Given the description of an element on the screen output the (x, y) to click on. 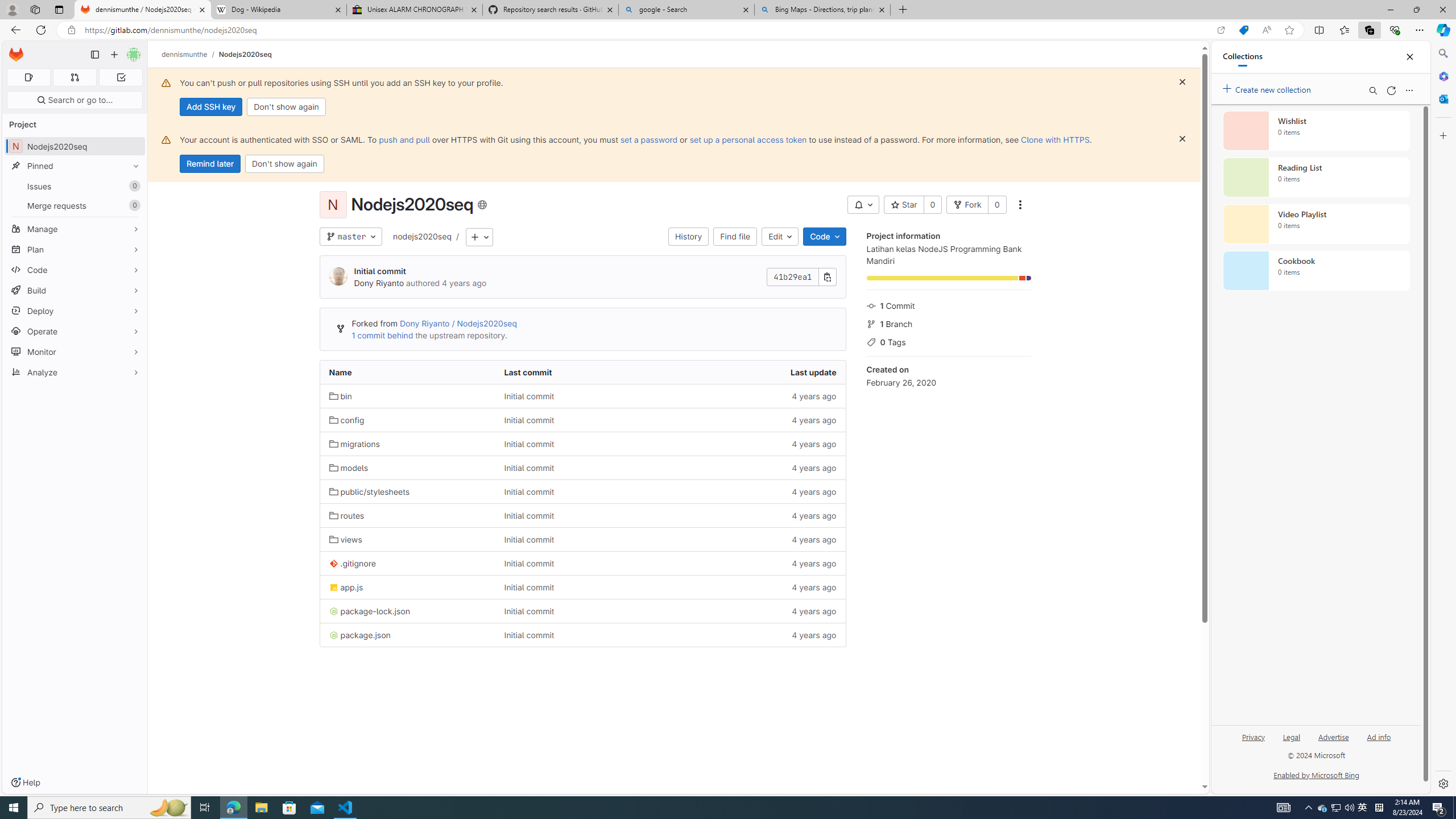
views (345, 539)
Manage (74, 228)
Class: s16 gl-alert-icon gl-alert-icon-no-title (165, 139)
Remind later (210, 163)
Side bar (1443, 418)
N Nodejs2020seq (74, 145)
Refresh (1390, 90)
public/stylesheets (369, 491)
Nodejs2020seq (245, 53)
Settings (1442, 783)
app.js (346, 587)
Class: tree-item (582, 634)
Add to tree (479, 236)
Operate (74, 330)
